Given the description of an element on the screen output the (x, y) to click on. 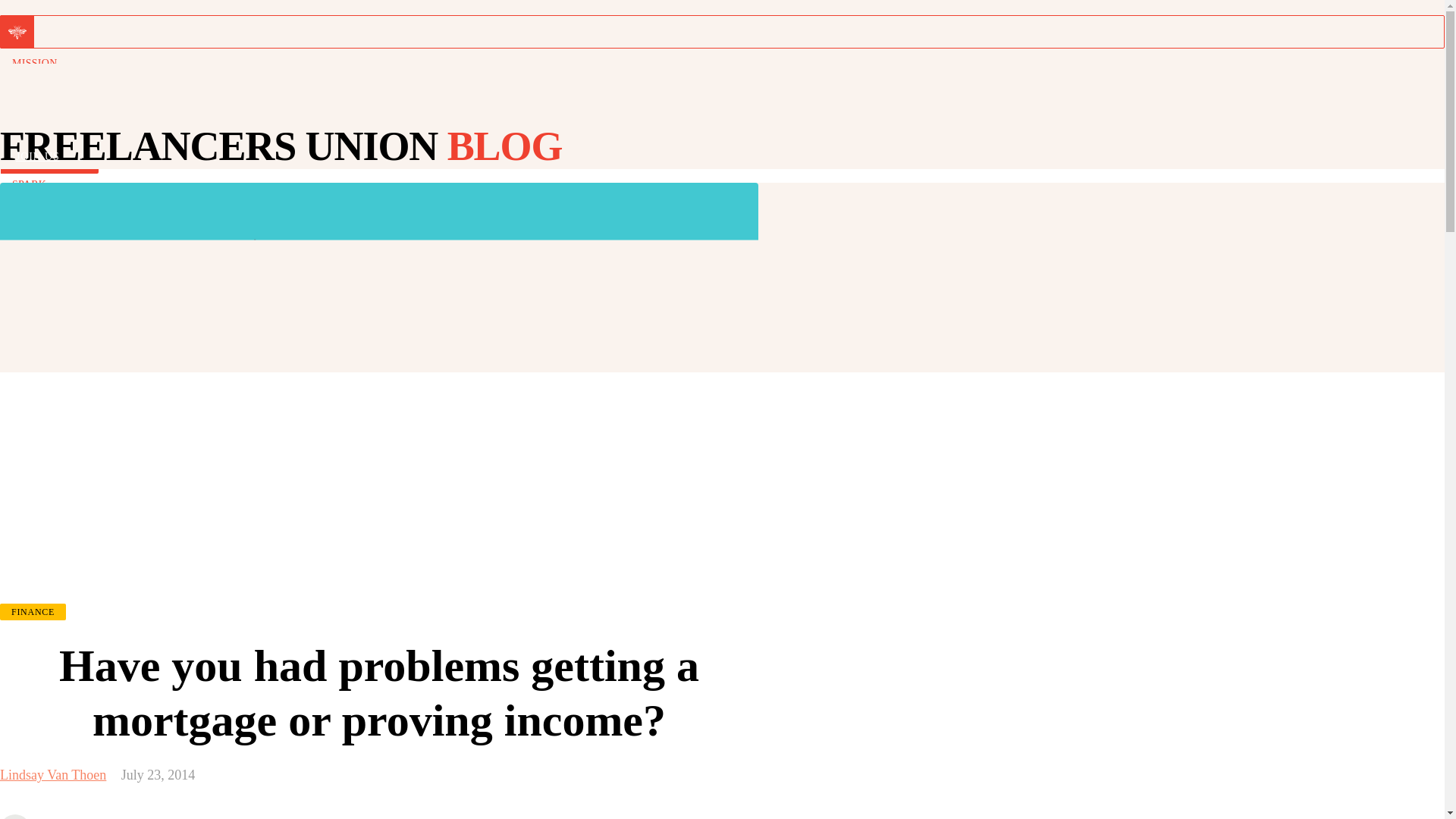
RESOURCES (716, 123)
GET INSURANCE (727, 245)
LOG IN (711, 125)
BLOG (716, 214)
Lindsay Van Thoen (53, 774)
ADVOCACY (716, 93)
SPARK (716, 184)
MISSION (716, 63)
DONATE (711, 95)
HUB (716, 154)
